Given the description of an element on the screen output the (x, y) to click on. 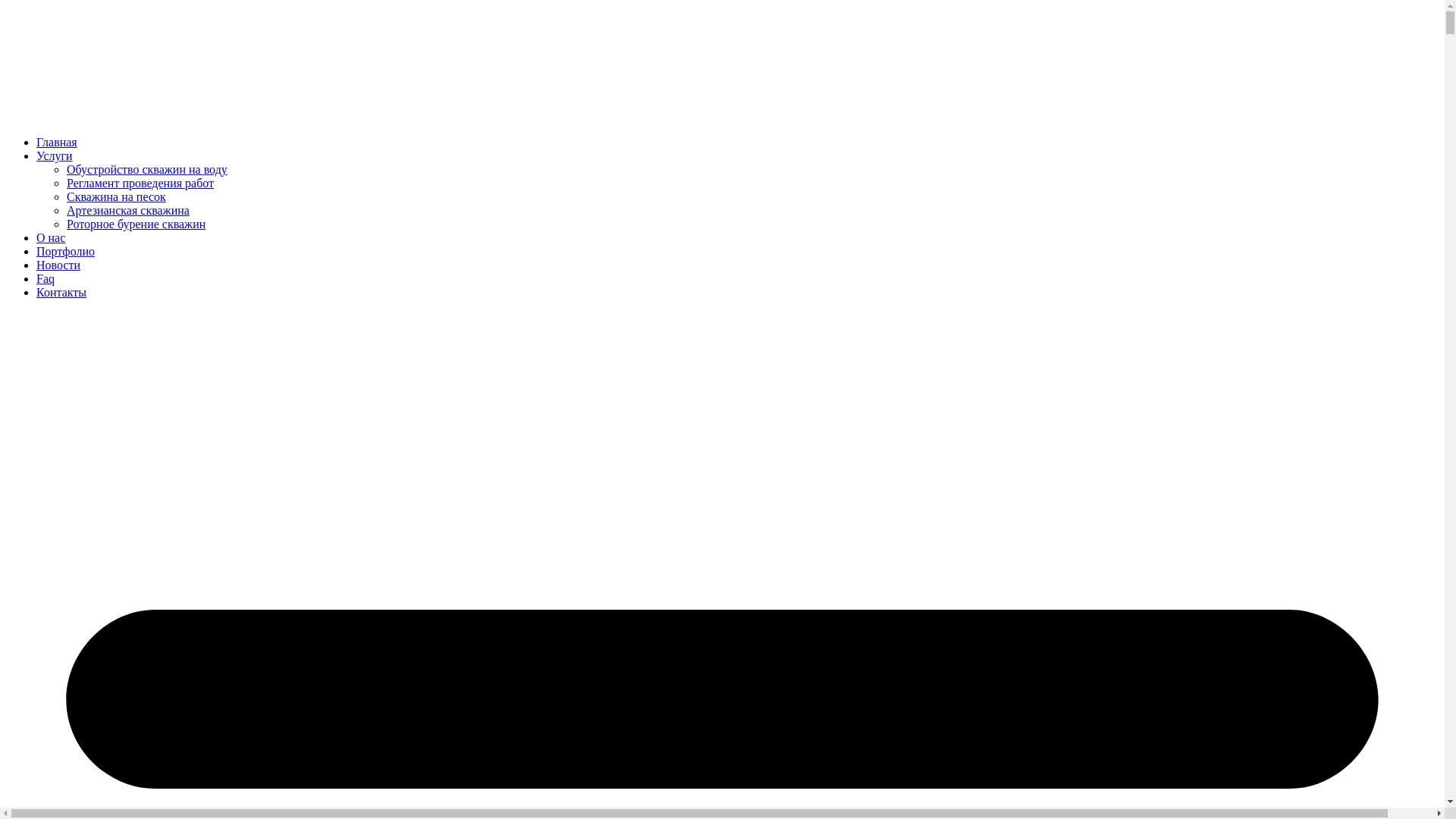
Faq Element type: text (45, 278)
